Given the description of an element on the screen output the (x, y) to click on. 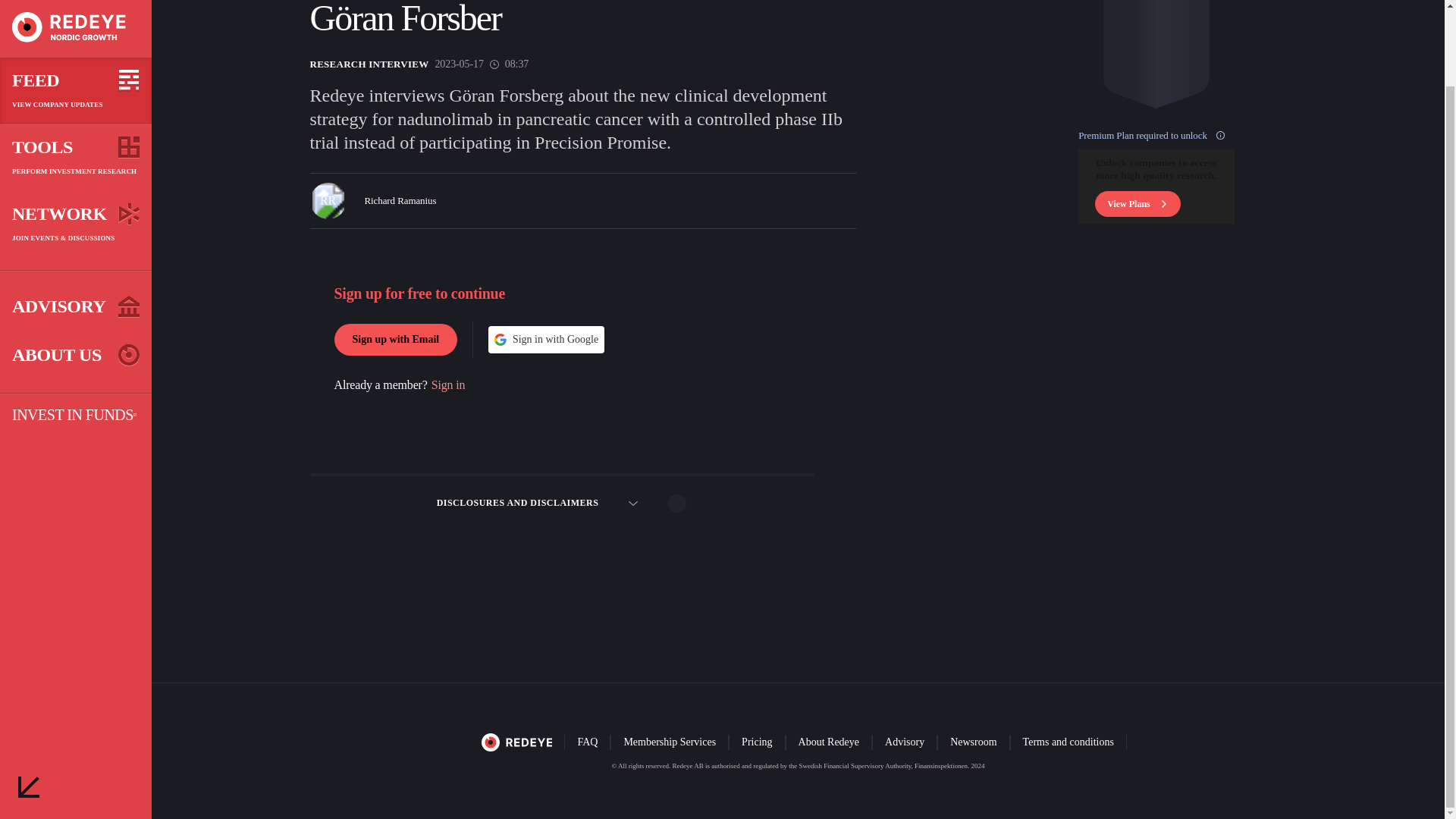
FAQ (586, 742)
Sign in with Google (545, 338)
About Redeye (829, 746)
Advisory (904, 742)
Pricing (756, 742)
About Redeye (828, 742)
Membership Services (669, 742)
Terms and conditions (1068, 746)
View Plans (1155, 203)
